Given the description of an element on the screen output the (x, y) to click on. 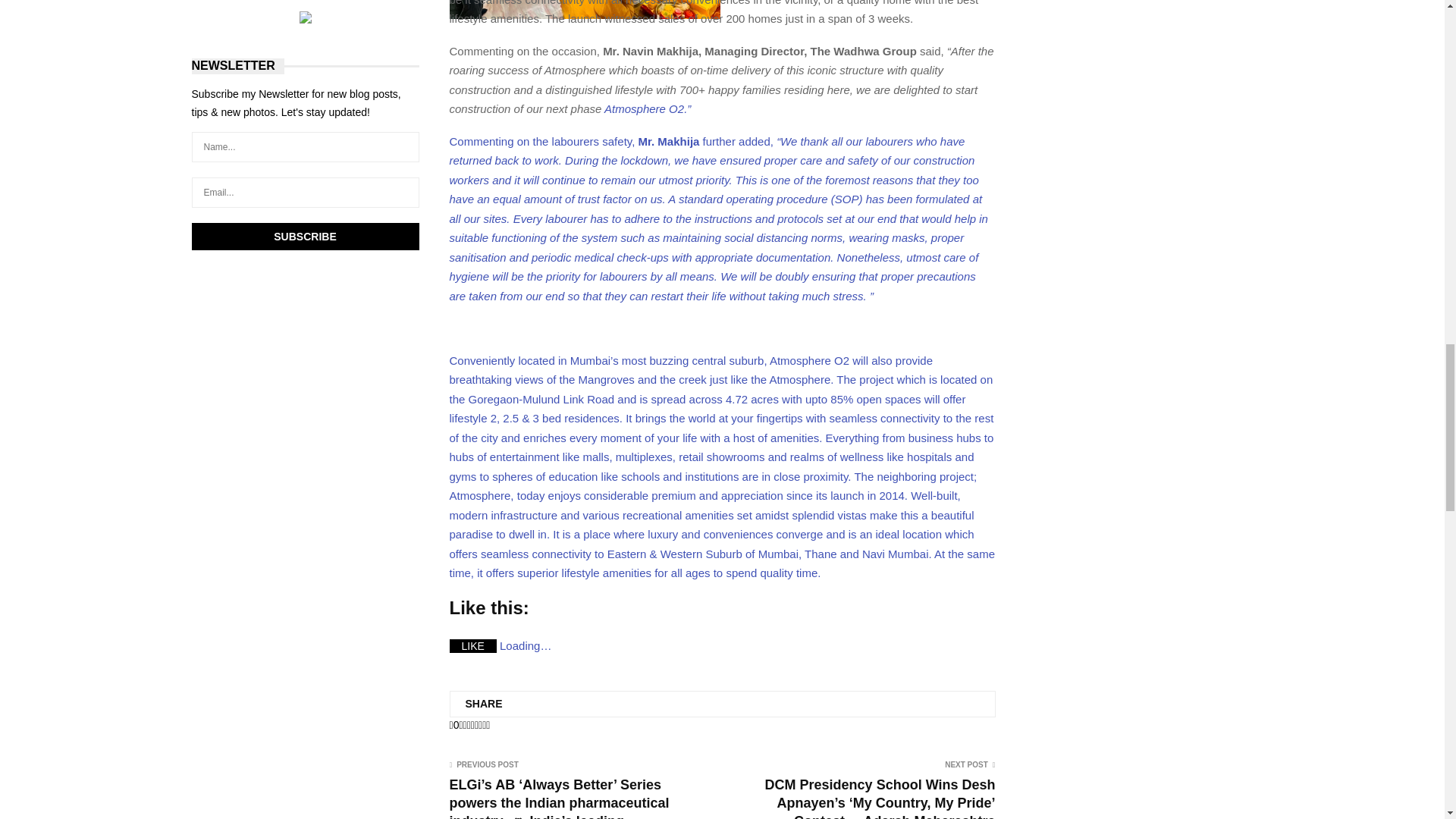
Subscribe (304, 236)
